Given the description of an element on the screen output the (x, y) to click on. 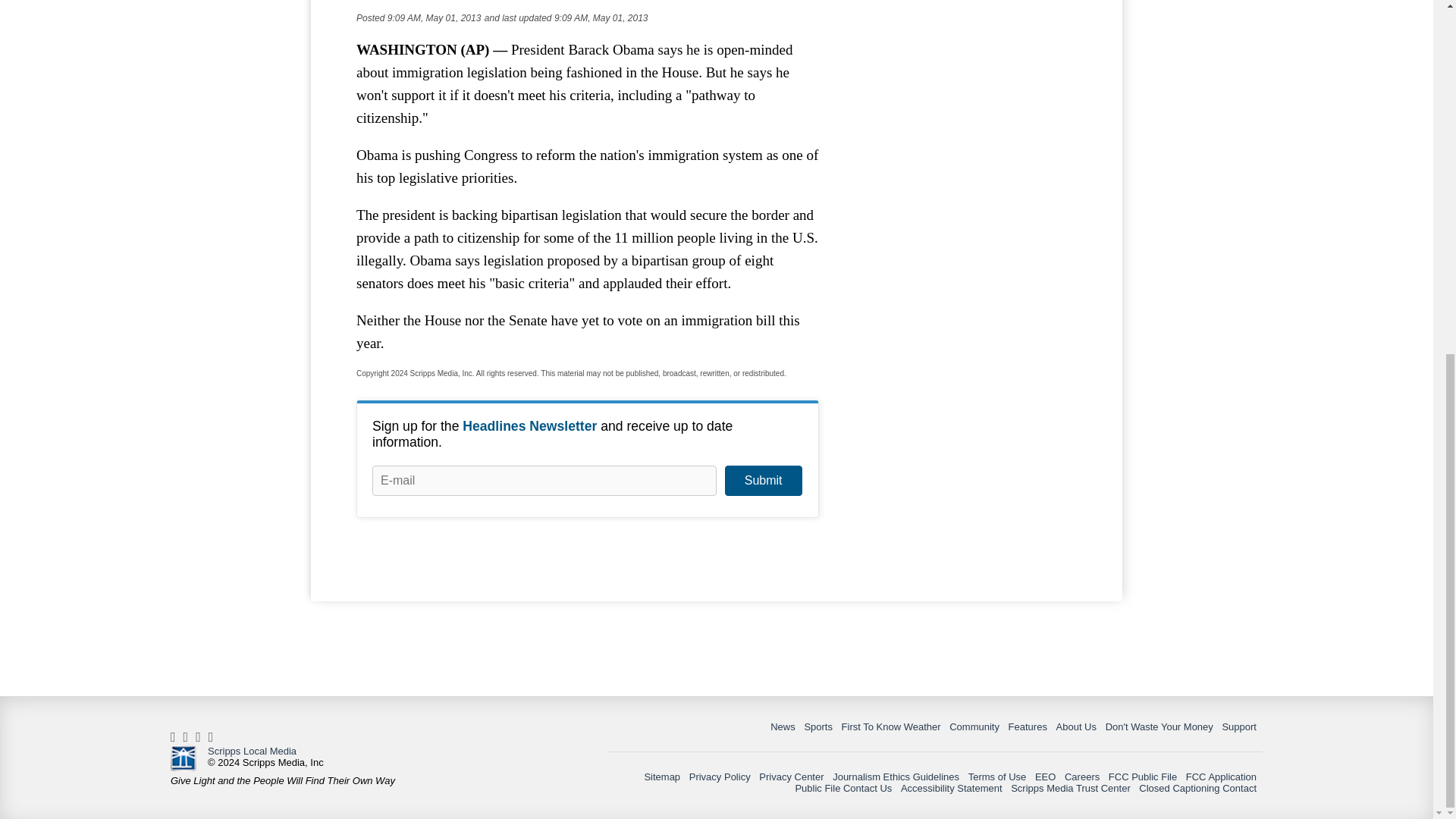
Submit (763, 481)
